Given the description of an element on the screen output the (x, y) to click on. 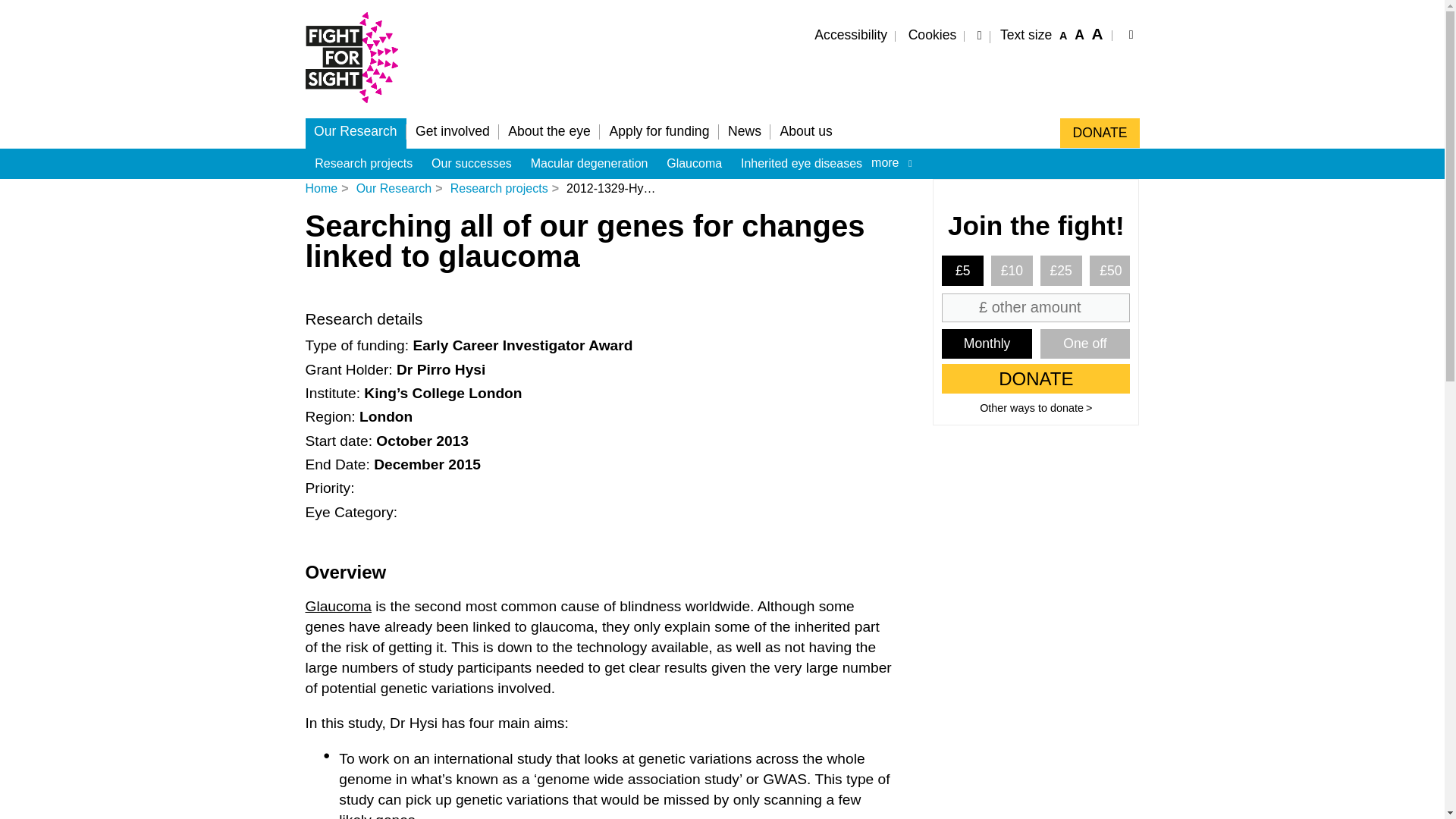
Cookies (931, 36)
Resize text (1053, 39)
Accessibility (850, 36)
Glaucoma (337, 606)
Home (357, 110)
